Given the description of an element on the screen output the (x, y) to click on. 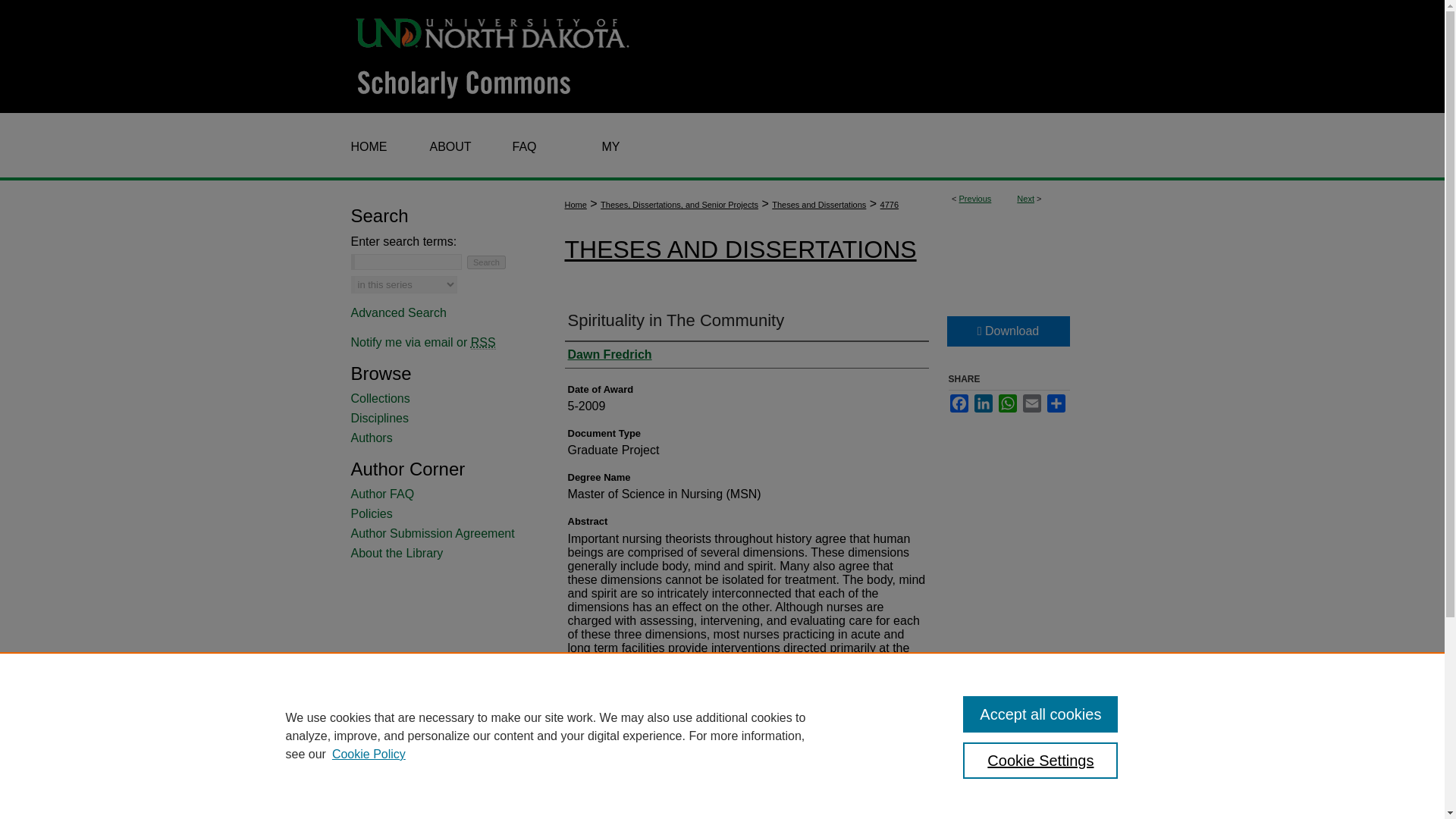
Share (1055, 402)
Theses, Dissertations, and Senior Projects (678, 204)
UND Scholarly Commons (721, 56)
Authors (441, 438)
WhatsApp (1006, 402)
About (444, 146)
Browse by Collections (441, 398)
Author Submission Agreement (441, 533)
Policies (441, 513)
Facebook (958, 402)
Search (486, 262)
Dawn Fredrich (608, 354)
Previous (975, 198)
MY ACCOUNT (610, 146)
4776 (889, 204)
